Given the description of an element on the screen output the (x, y) to click on. 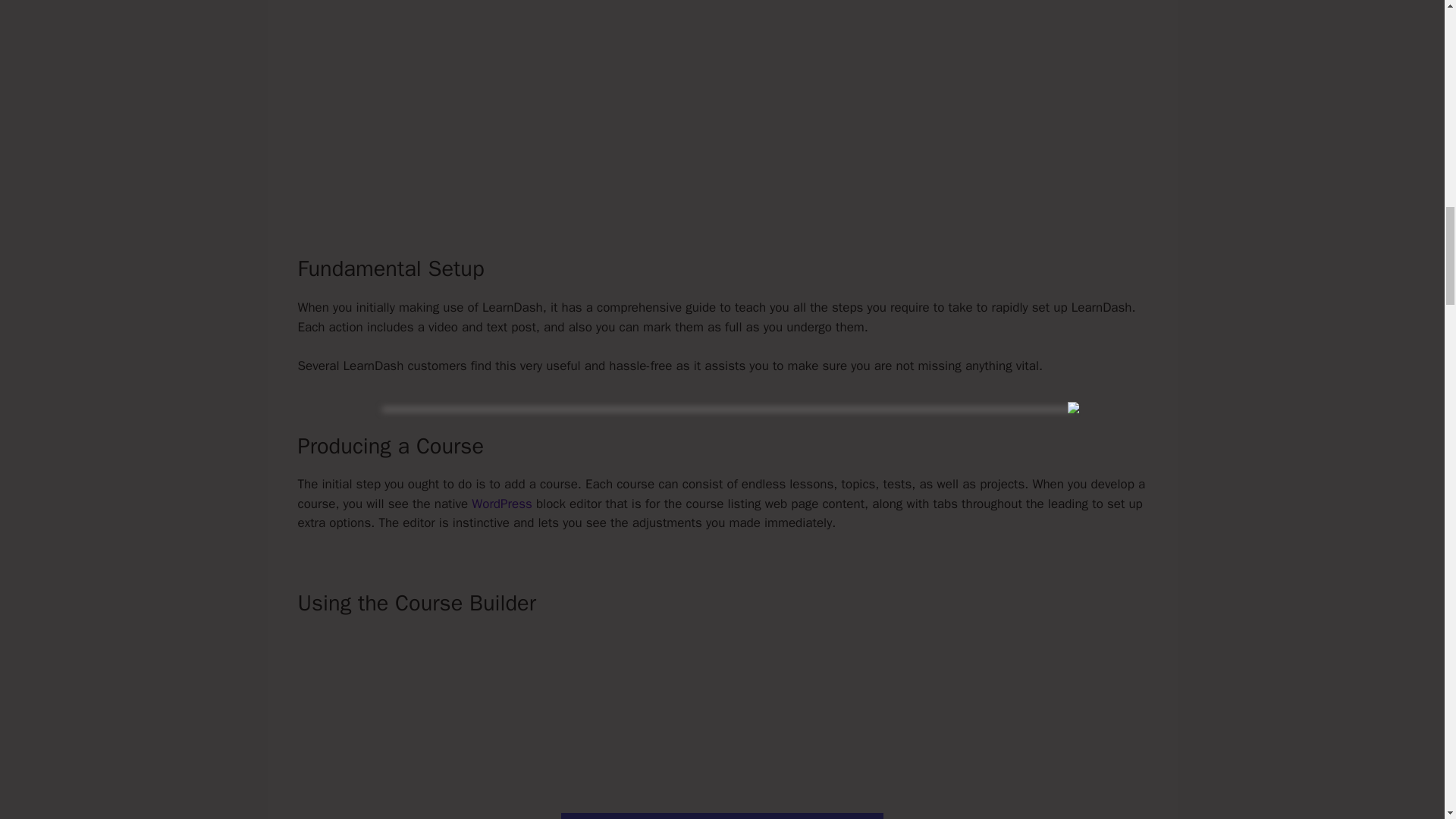
WordPress (501, 503)
Start To Develop Your Course Here (721, 816)
